Given the description of an element on the screen output the (x, y) to click on. 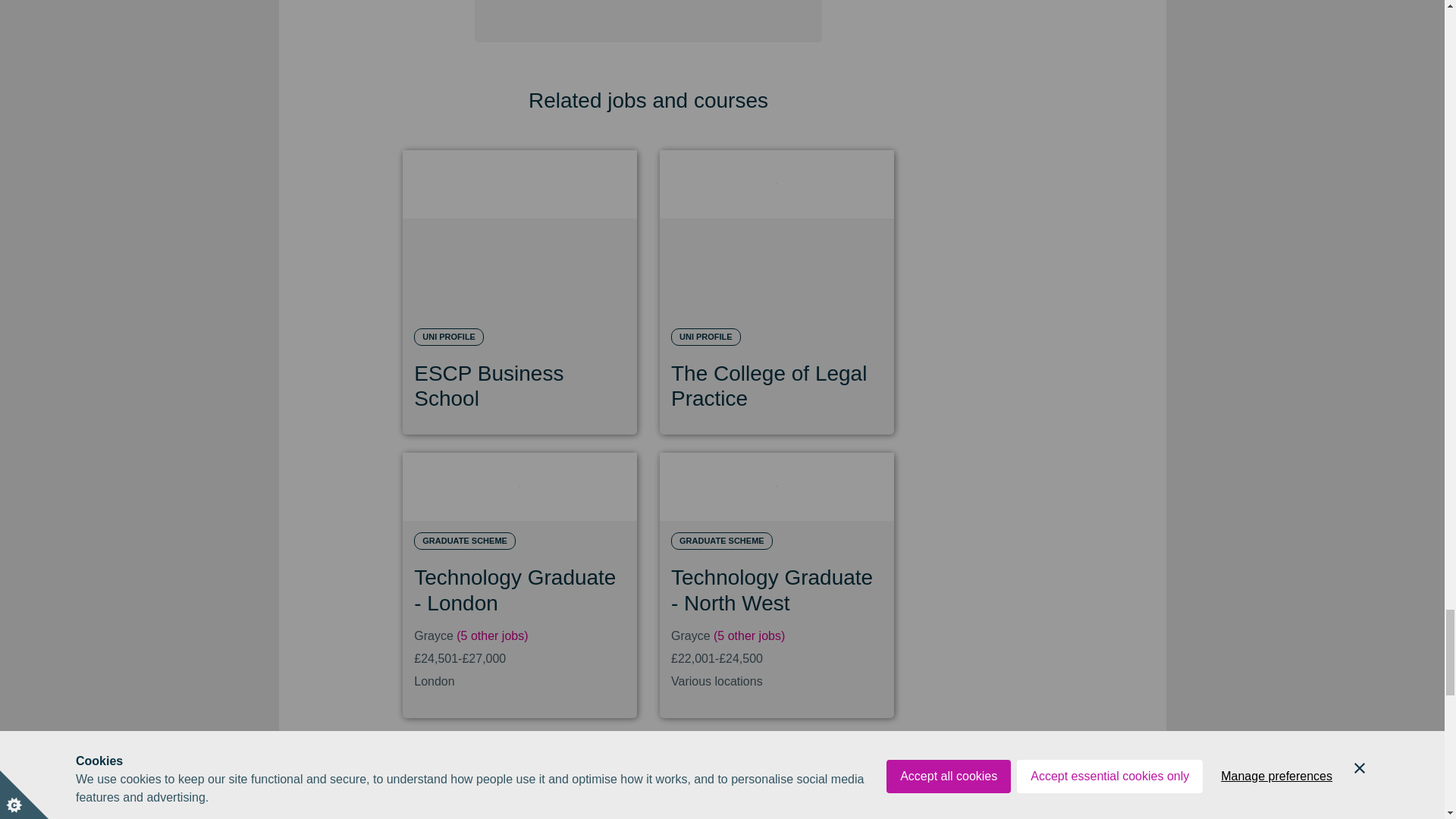
3rd party ad content (519, 782)
